Given the description of an element on the screen output the (x, y) to click on. 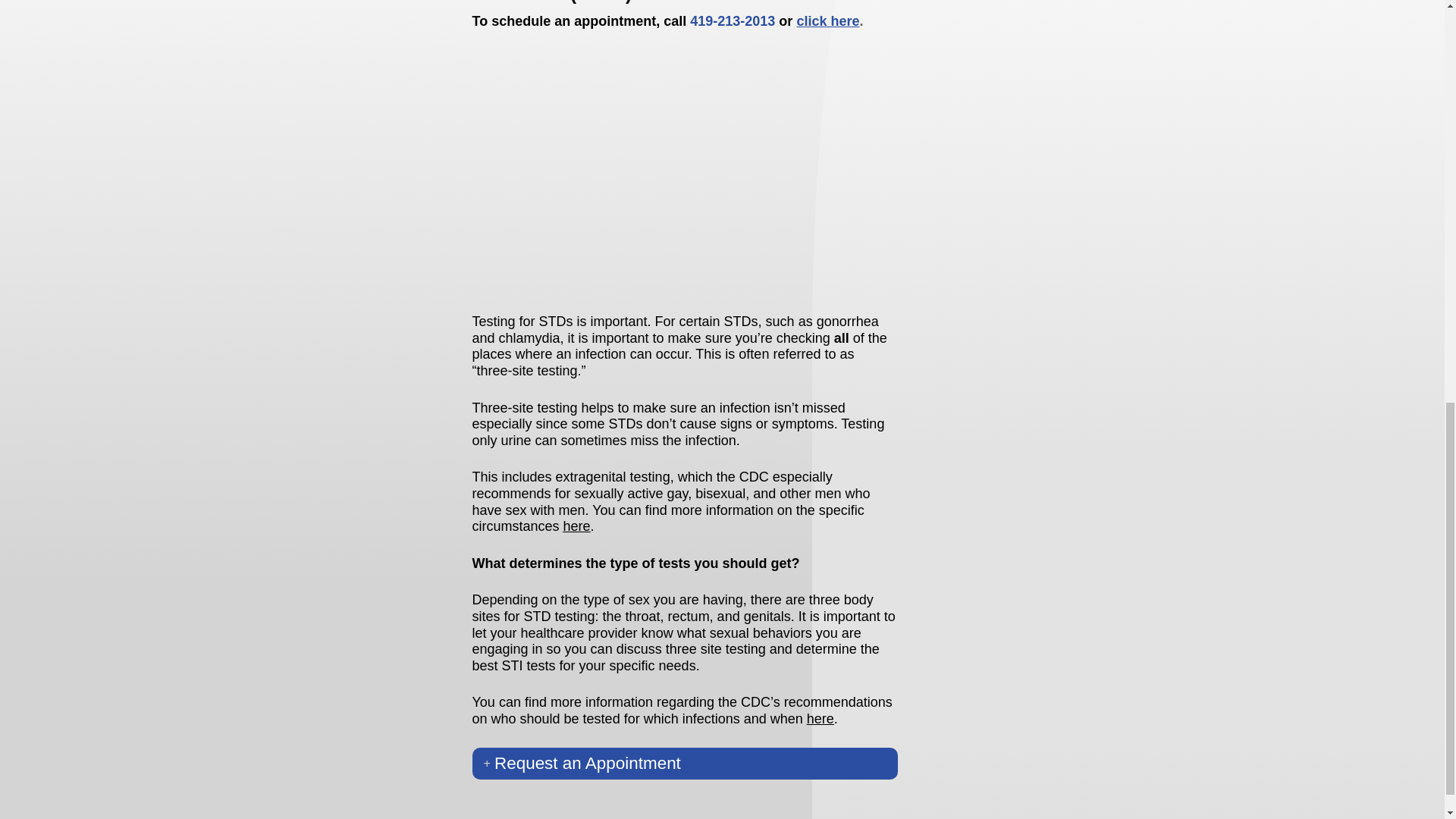
YouTube video player (683, 169)
